Given the description of an element on the screen output the (x, y) to click on. 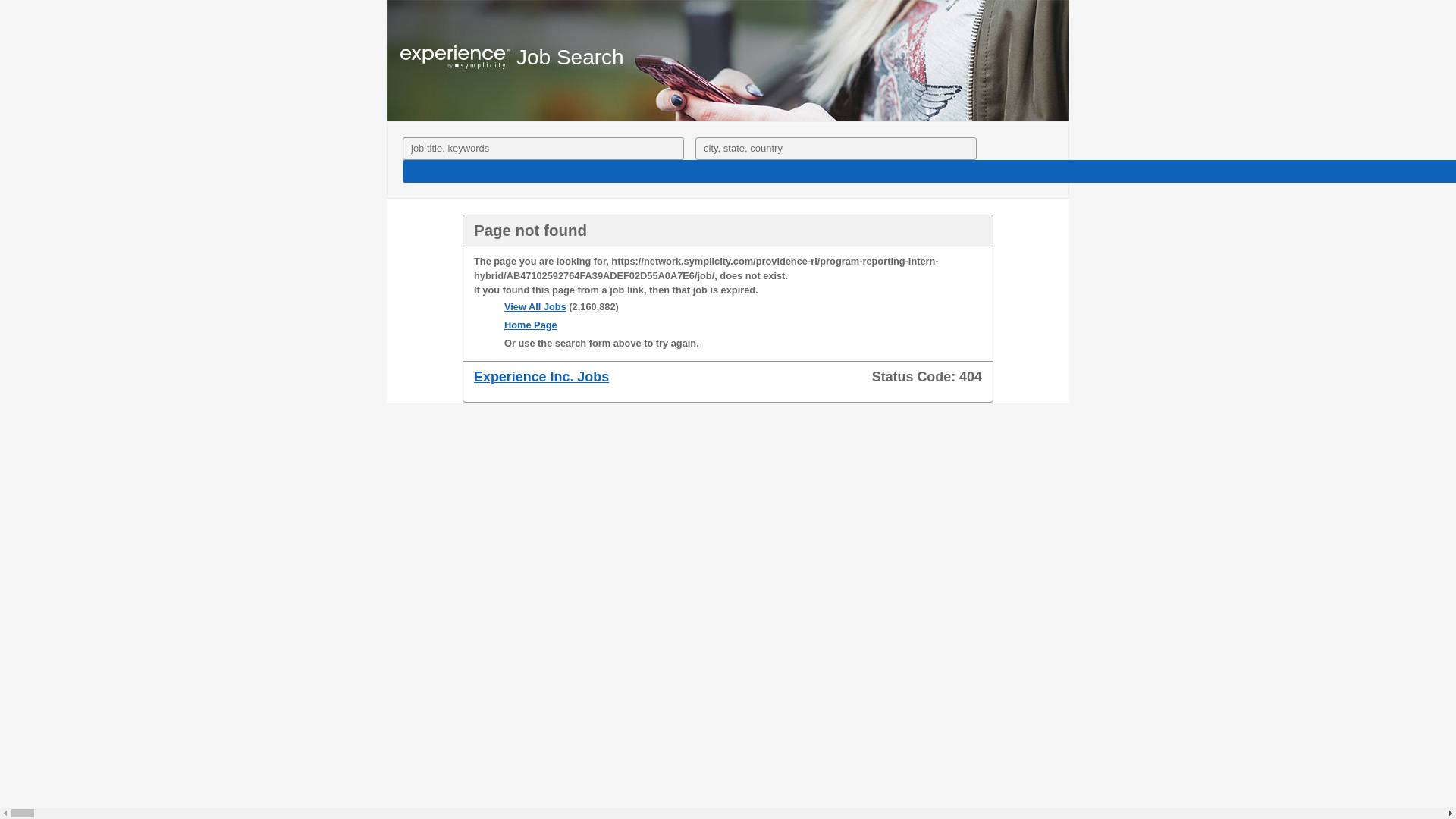
View All Jobs (534, 306)
Home Page (530, 324)
Experience Inc. Jobs (541, 376)
Search Location (835, 148)
Search Phrase (543, 148)
